Given the description of an element on the screen output the (x, y) to click on. 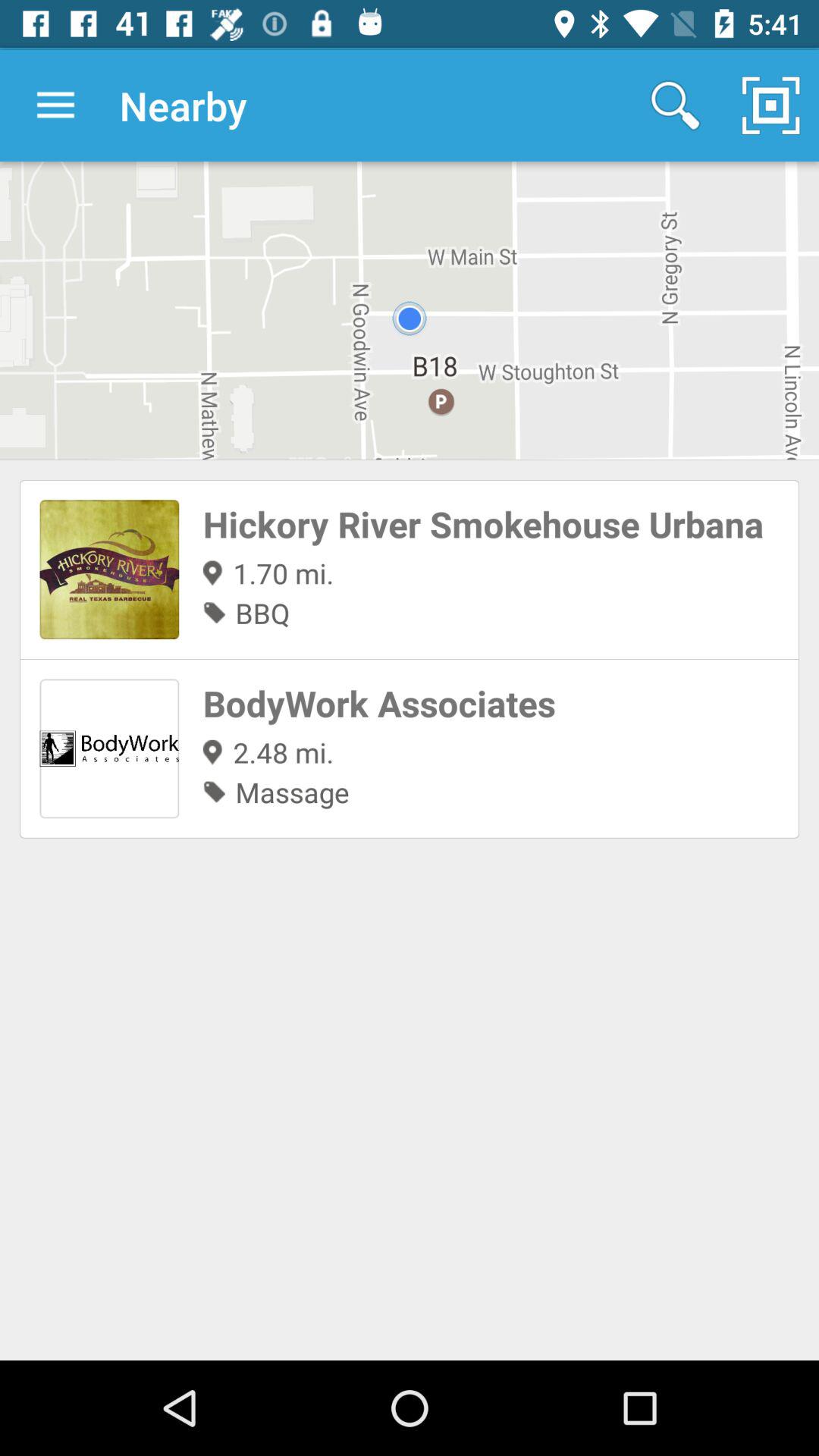
choose the image left side of bodywork associates (109, 748)
